Given the description of an element on the screen output the (x, y) to click on. 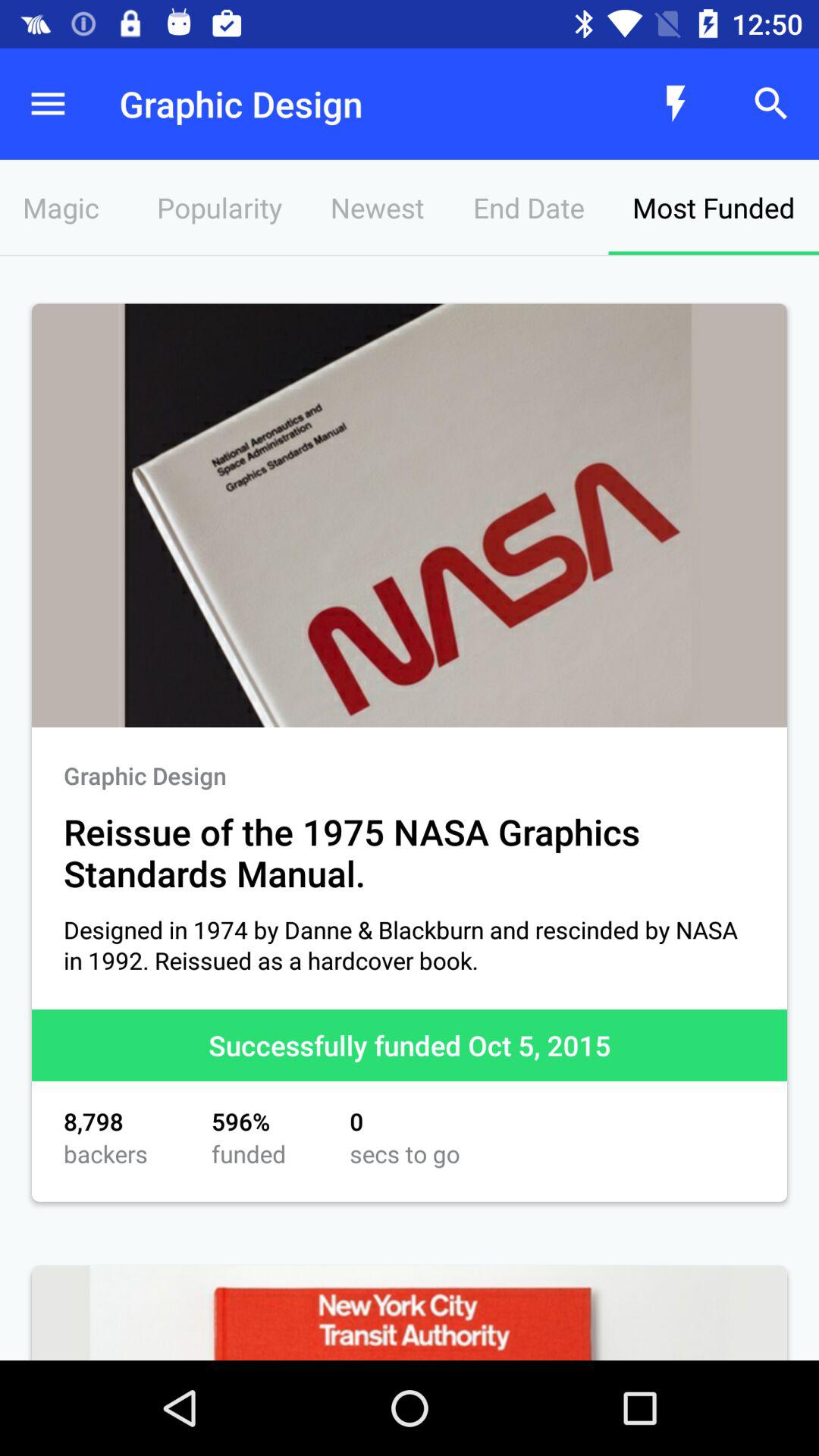
click on search (771, 104)
click on the text right to menu (345, 104)
click on new york city transit authority (409, 1312)
